Given the description of an element on the screen output the (x, y) to click on. 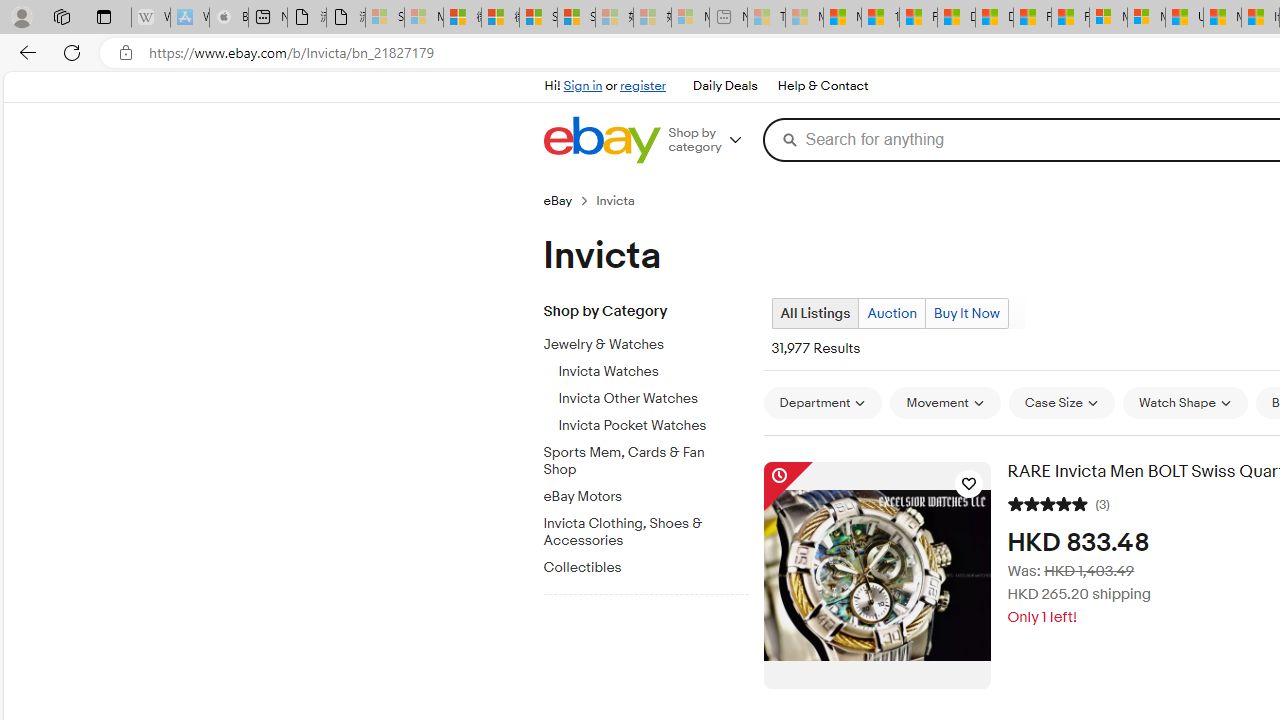
Jewelry & Watches (653, 341)
Marine life - MSN - Sleeping (804, 17)
5 out of 5 stars (1047, 502)
Invicta Clothing, Shoes & Accessories (653, 528)
Auction (891, 313)
Microsoft Services Agreement - Sleeping (423, 17)
Daily Deals (724, 85)
Case Size (1061, 402)
Department (822, 402)
Sports Mem, Cards & Fan Shop (637, 462)
Invicta Watches (653, 372)
